Given the description of an element on the screen output the (x, y) to click on. 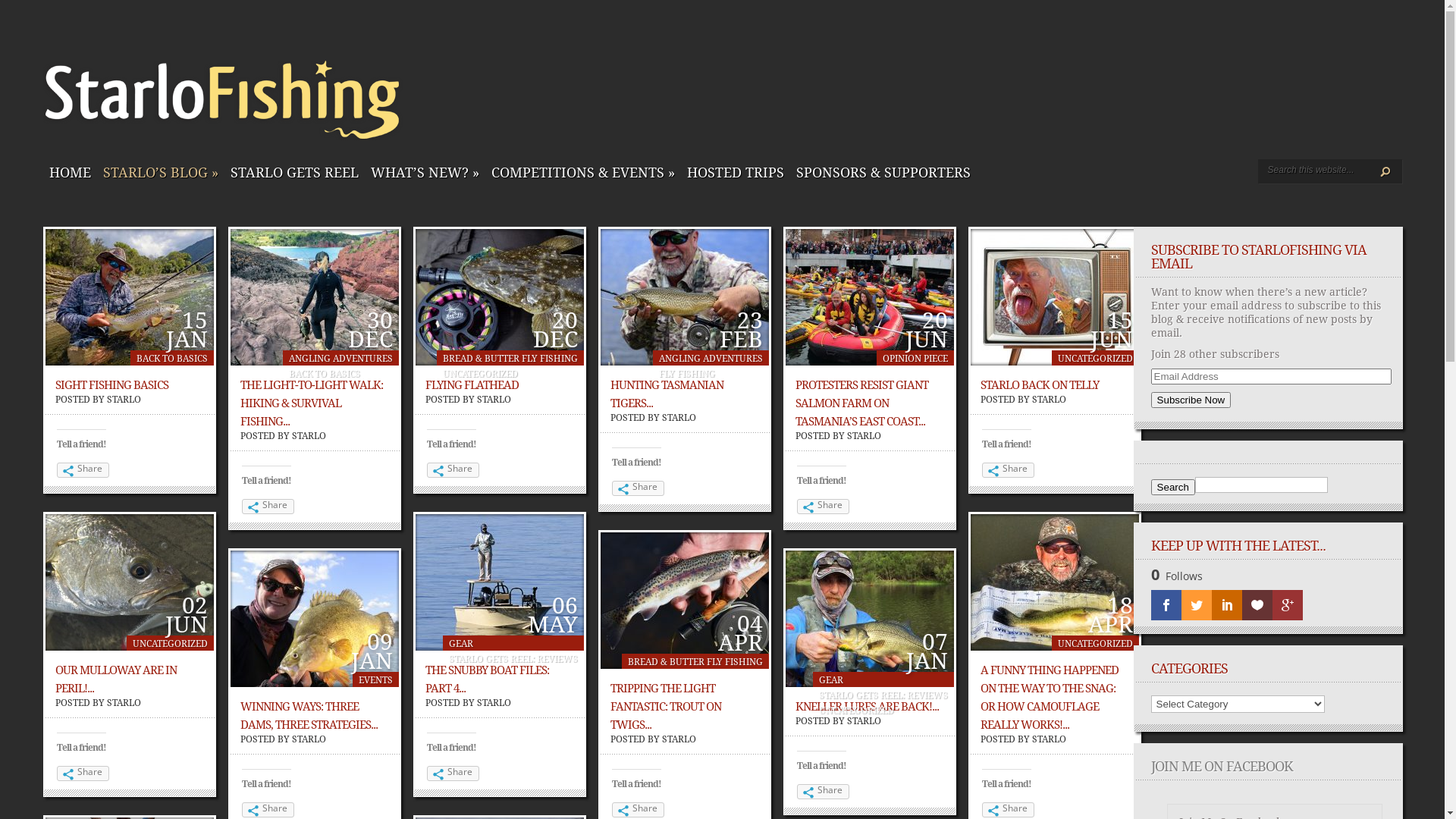
ANGLING ADVENTURES Element type: text (340, 358)
STARLO Element type: text (123, 399)
OUR MULLOWAY ARE IN PERIL!... Element type: text (115, 679)
HOSTED TRIPS Element type: text (735, 173)
GEAR Element type: text (831, 679)
UNCATEGORIZED Element type: text (479, 373)
WINNING WAYS: THREE DAMS, THREE STRATEGIES... Element type: text (308, 715)
SIGHT FISHING BASICS Element type: text (111, 385)
STARLO BACK ON TELLY Element type: text (1039, 385)
SPONSORS & SUPPORTERS Element type: text (883, 173)
GEAR Element type: text (460, 643)
BREAD & BUTTER FLY FISHING Element type: text (509, 358)
STARLO Element type: text (308, 739)
STARLO Element type: text (308, 435)
BACK TO BASICS Element type: text (171, 358)
STARLO GETS REEL: REVIEWS Element type: text (883, 695)
STARLO Element type: text (123, 702)
Subscribe Now Element type: text (1191, 399)
OPINION PIECE Element type: text (914, 358)
Share Element type: text (1008, 469)
KNELLER LURES ARE BACK!... Element type: text (866, 706)
HUNTING TASMANIAN TIGERS... Element type: text (666, 394)
STARLO Element type: text (864, 435)
STARLO Element type: text (493, 702)
STARLO GETS REEL Element type: text (294, 173)
FLY FISHING Element type: text (686, 373)
THE LIGHT-TO-LIGHT WALK: HIKING & SURVIVAL FISHING... Element type: text (311, 403)
STARLO Element type: text (493, 399)
JOIN ME ON FACEBOOK Element type: text (1221, 766)
STARLO Element type: text (1049, 399)
Share Element type: text (267, 506)
BACK TO BASICS Element type: text (324, 373)
Share Element type: text (267, 809)
Share Element type: text (82, 773)
THE SNUBBY BOAT FILES: PART 4... Element type: text (487, 679)
Share Element type: text (637, 487)
STARLO Element type: text (679, 739)
UNCATEGORIZED Element type: text (856, 710)
UNCATEGORIZED Element type: text (1094, 643)
UNCATEGORIZED Element type: text (1094, 358)
HOME Element type: text (70, 173)
BREAD & BUTTER FLY FISHING Element type: text (694, 661)
Share Element type: text (637, 809)
Share Element type: text (1008, 809)
TRIPPING THE LIGHT FANTASTIC: TROUT ON TWIGS... Element type: text (665, 706)
Share Element type: text (452, 469)
UNCATEGORIZED Element type: text (169, 643)
EVENTS Element type: text (375, 679)
STARLO Element type: text (679, 417)
Search Element type: text (1173, 487)
STARLO Element type: text (1049, 739)
Share Element type: text (452, 773)
STARLO Element type: text (864, 720)
STARLO GETS REEL: REVIEWS Element type: text (512, 658)
Share Element type: text (823, 506)
FLYING FLATHEAD Element type: text (471, 385)
Share Element type: text (823, 791)
Share Element type: text (82, 469)
ANGLING ADVENTURES Element type: text (710, 358)
